Given the description of an element on the screen output the (x, y) to click on. 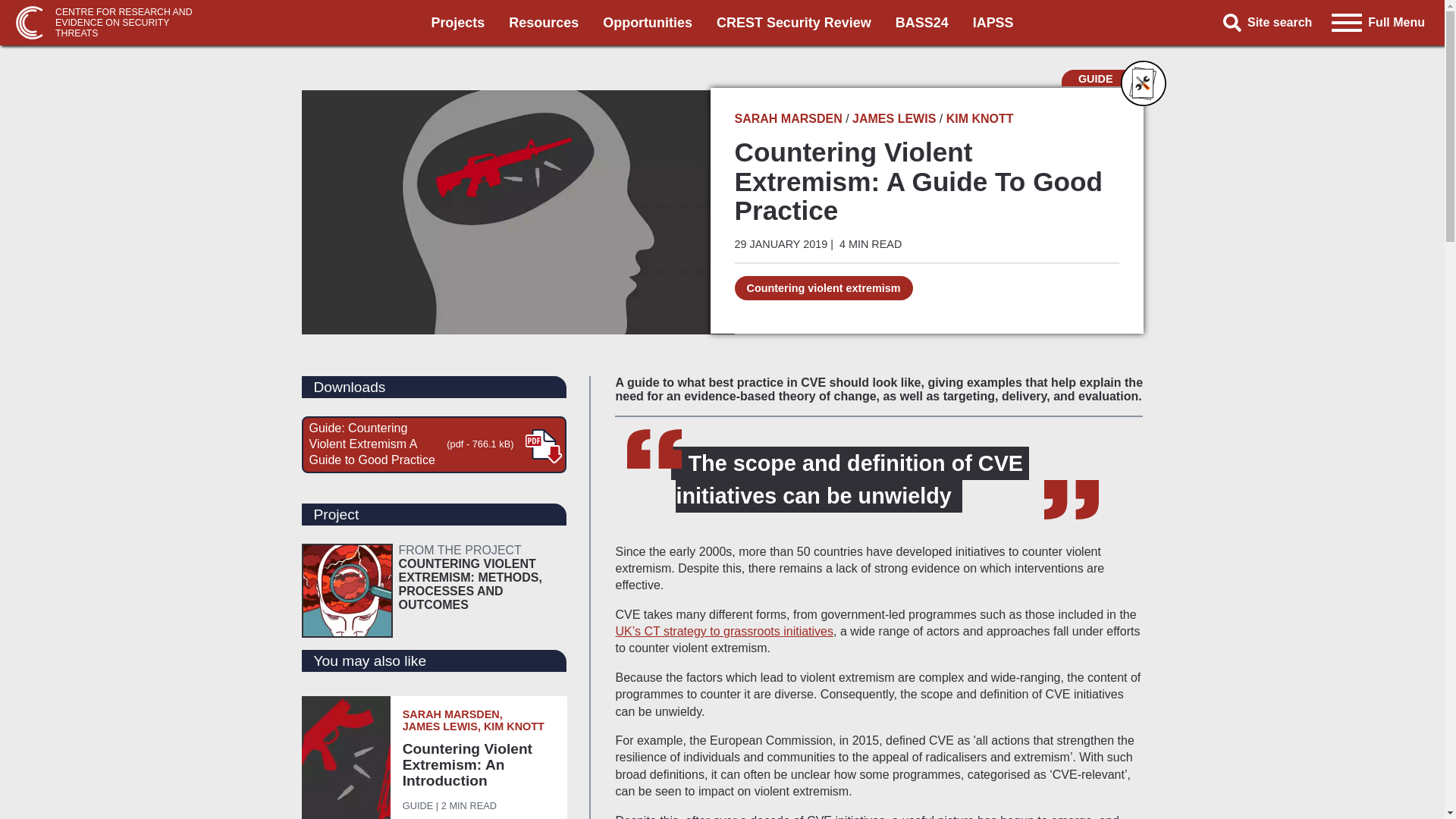
SARAH MARSDEN (787, 118)
IAPSS (993, 23)
CENTRE FOR RESEARCH AND EVIDENCE ON SECURITY THREATS (109, 22)
Full Menu (1377, 22)
Site search (1273, 22)
Countering violent extremism (822, 288)
Projects (457, 23)
CREST Security Review (793, 23)
BASS24 (922, 23)
Opportunities (647, 23)
JAMES LEWIS (893, 118)
Resources (1101, 77)
